Given the description of an element on the screen output the (x, y) to click on. 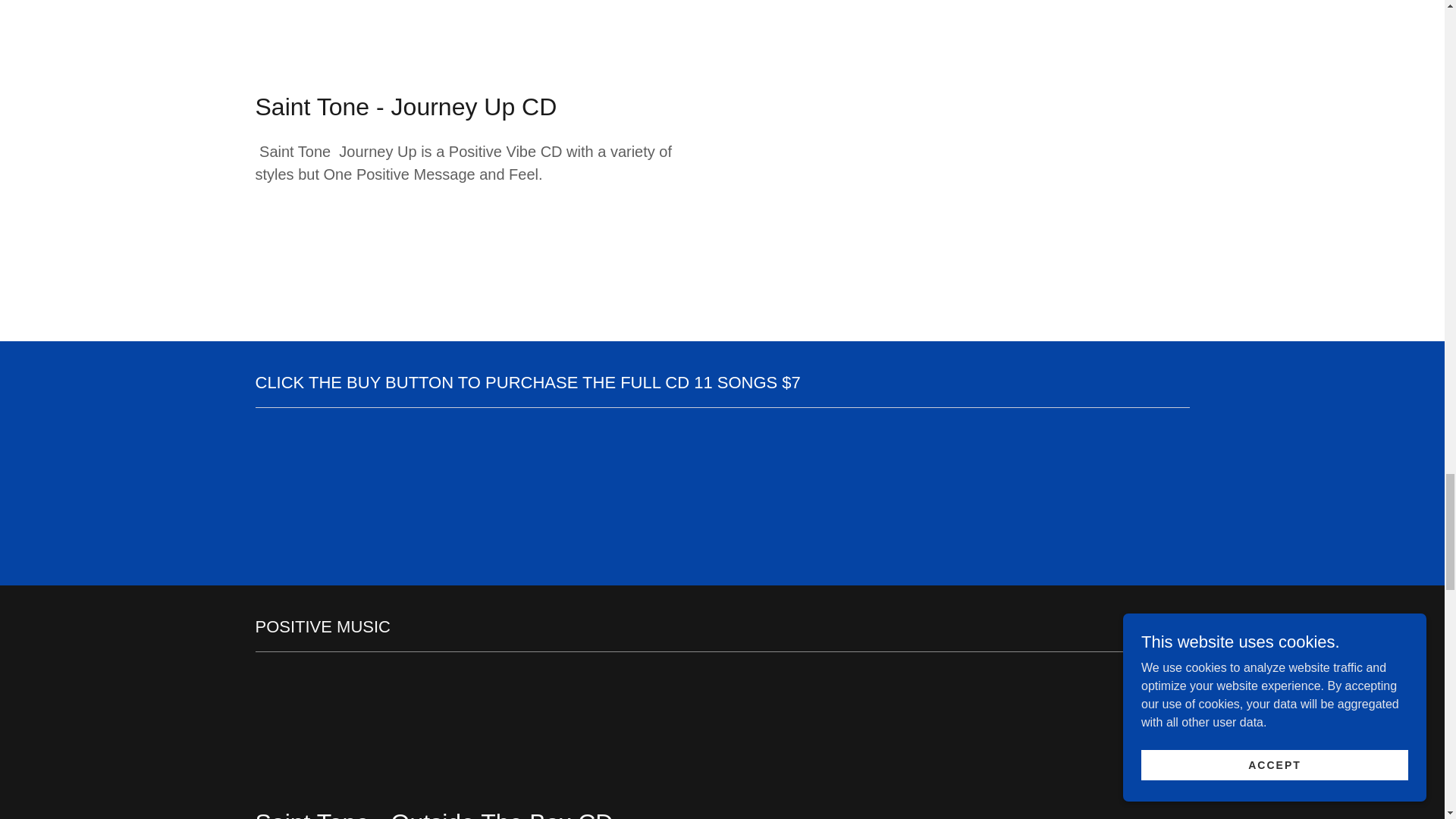
Clickable audio widget (964, 750)
